Given the description of an element on the screen output the (x, y) to click on. 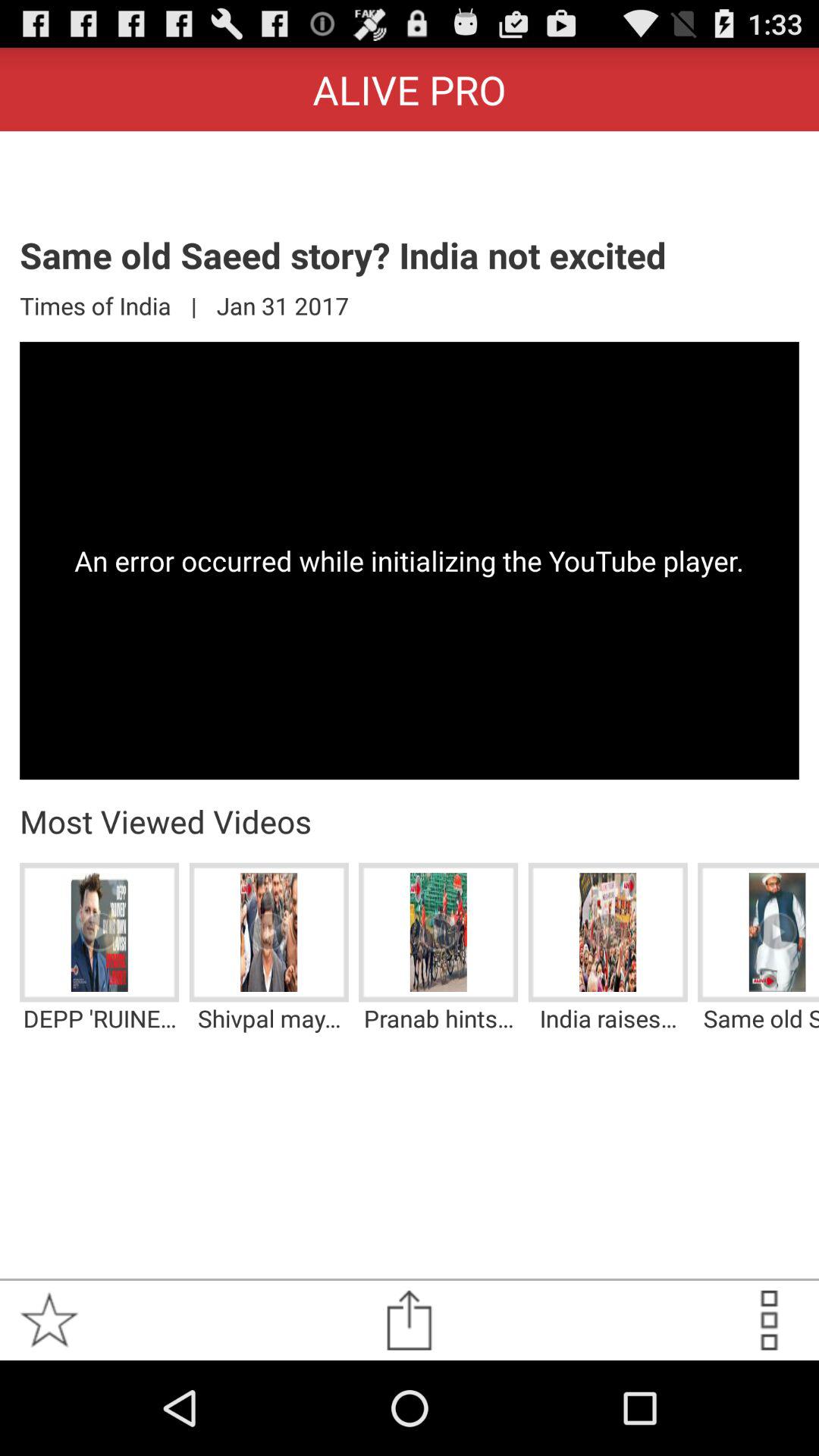
open in browser (409, 1320)
